Given the description of an element on the screen output the (x, y) to click on. 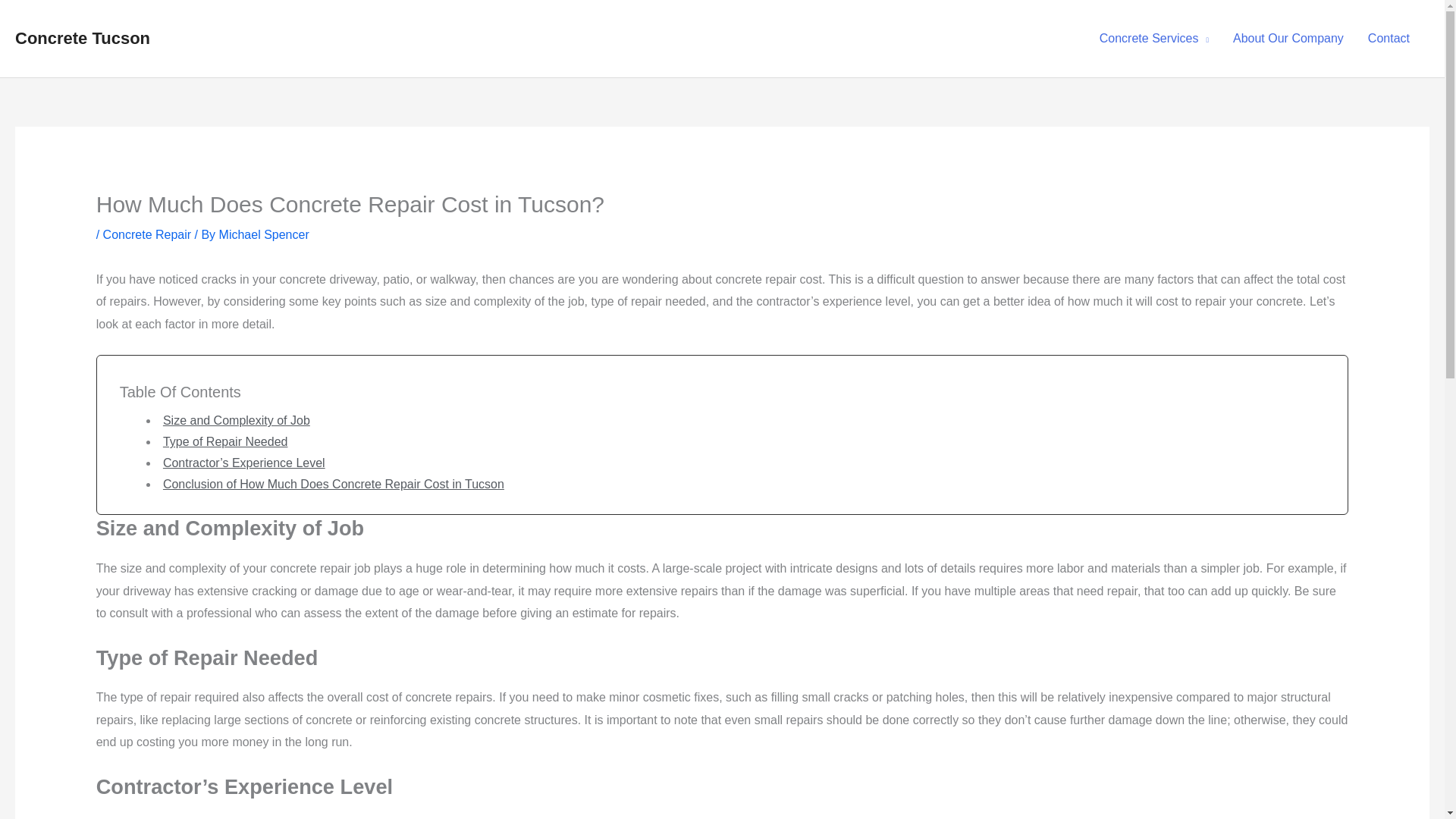
Type of Repair Needed (225, 440)
Concrete Services (1154, 38)
Contact (1388, 38)
Michael Spencer (263, 234)
About Our Company (1288, 38)
Size and Complexity of Job (236, 420)
Conclusion of How Much Does Concrete Repair Cost in Tucson (333, 483)
Concrete Tucson (81, 37)
Concrete Repair (147, 234)
View all posts by Michael Spencer (263, 234)
